Given the description of an element on the screen output the (x, y) to click on. 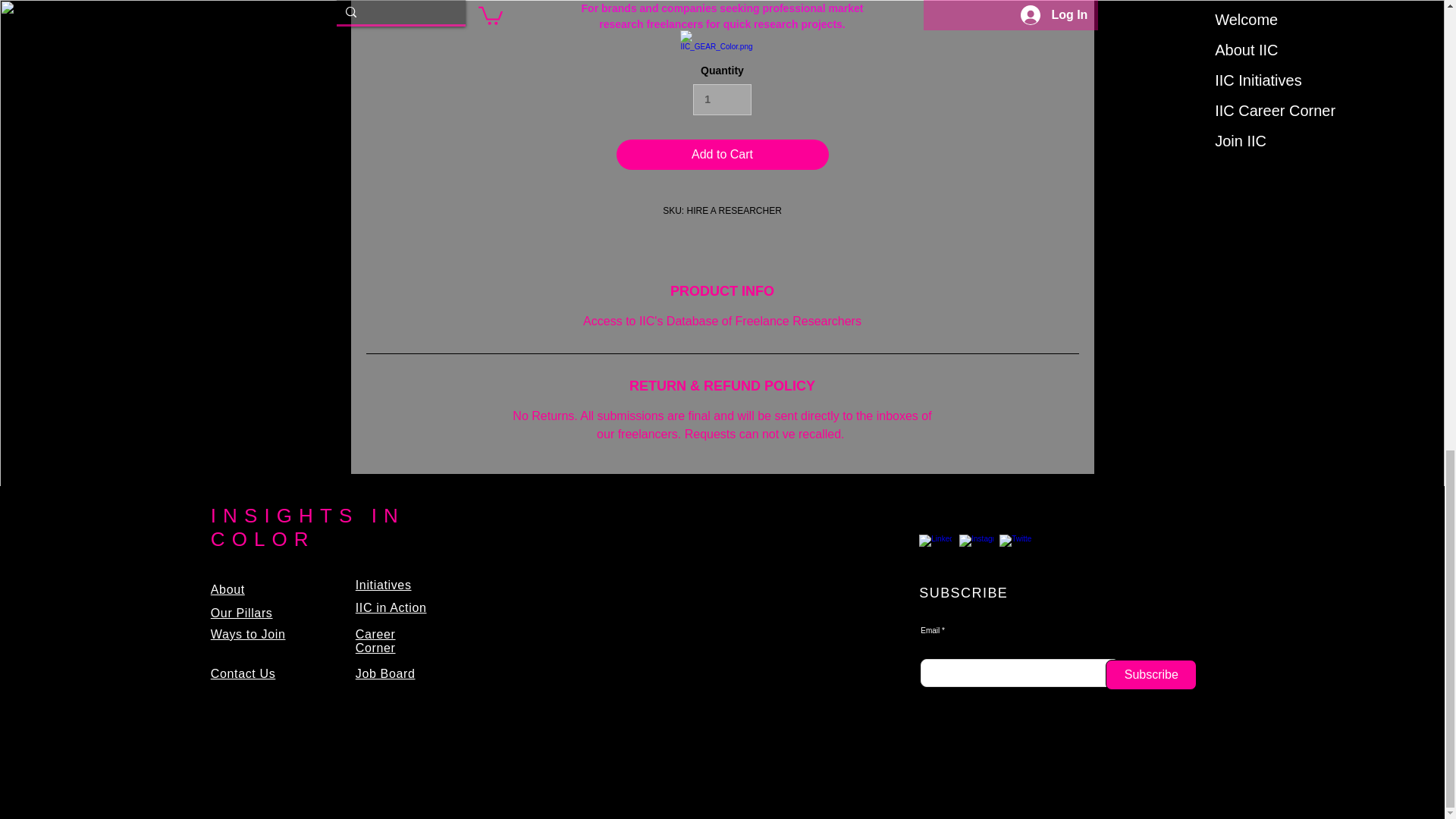
Ways to Join (248, 634)
Contact Us (243, 673)
1 (722, 99)
Job Board (384, 673)
About (227, 589)
INSIGHTS IN COLOR (307, 527)
Subscribe (1150, 675)
Initiatives (383, 584)
IIC in Action (390, 607)
Add to Cart (721, 154)
